Given the description of an element on the screen output the (x, y) to click on. 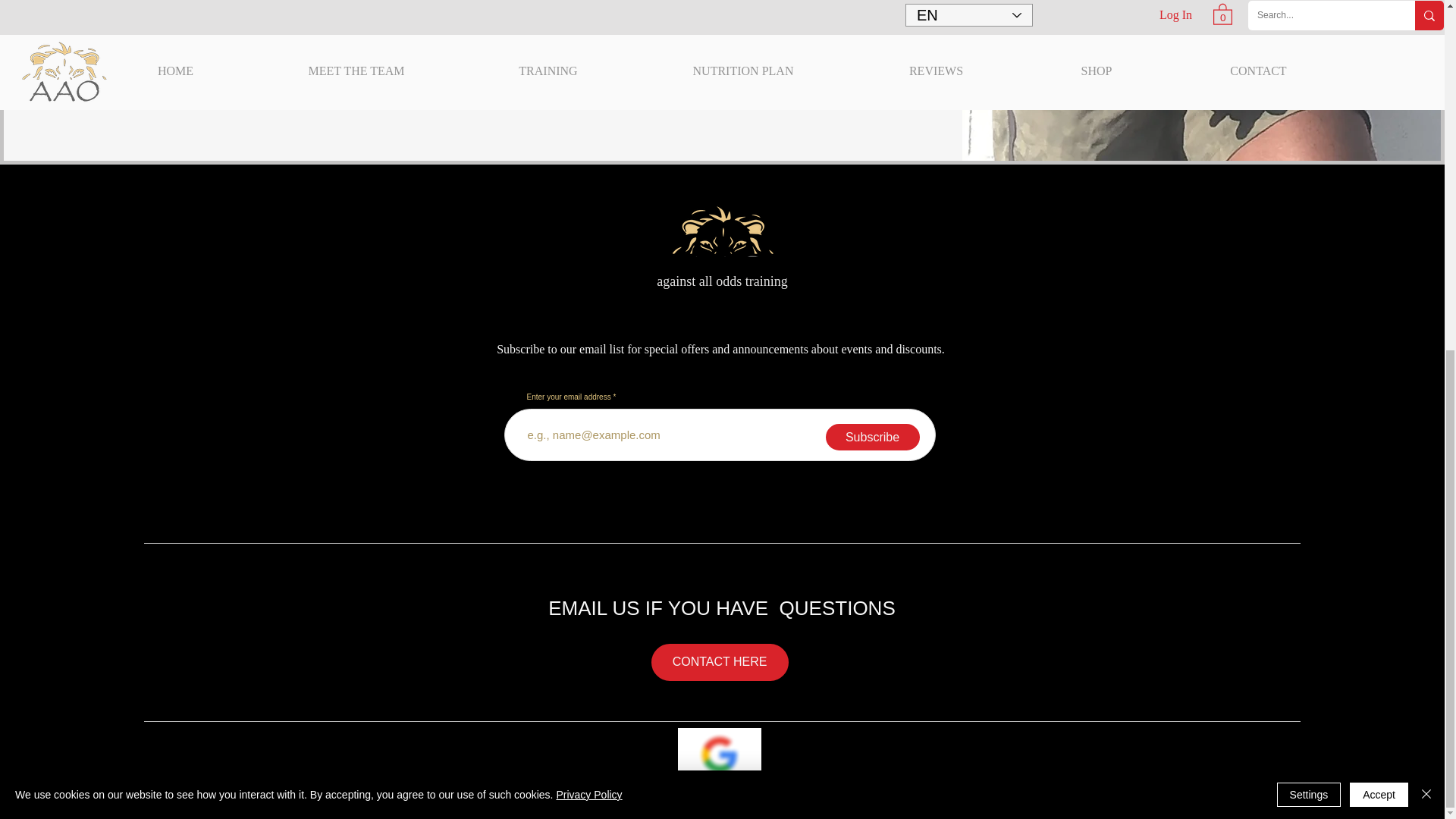
Subscribe (871, 437)
Settings (1308, 187)
Privacy Policy (588, 186)
Accept (1378, 187)
CONTACT HERE (718, 661)
